Given the description of an element on the screen output the (x, y) to click on. 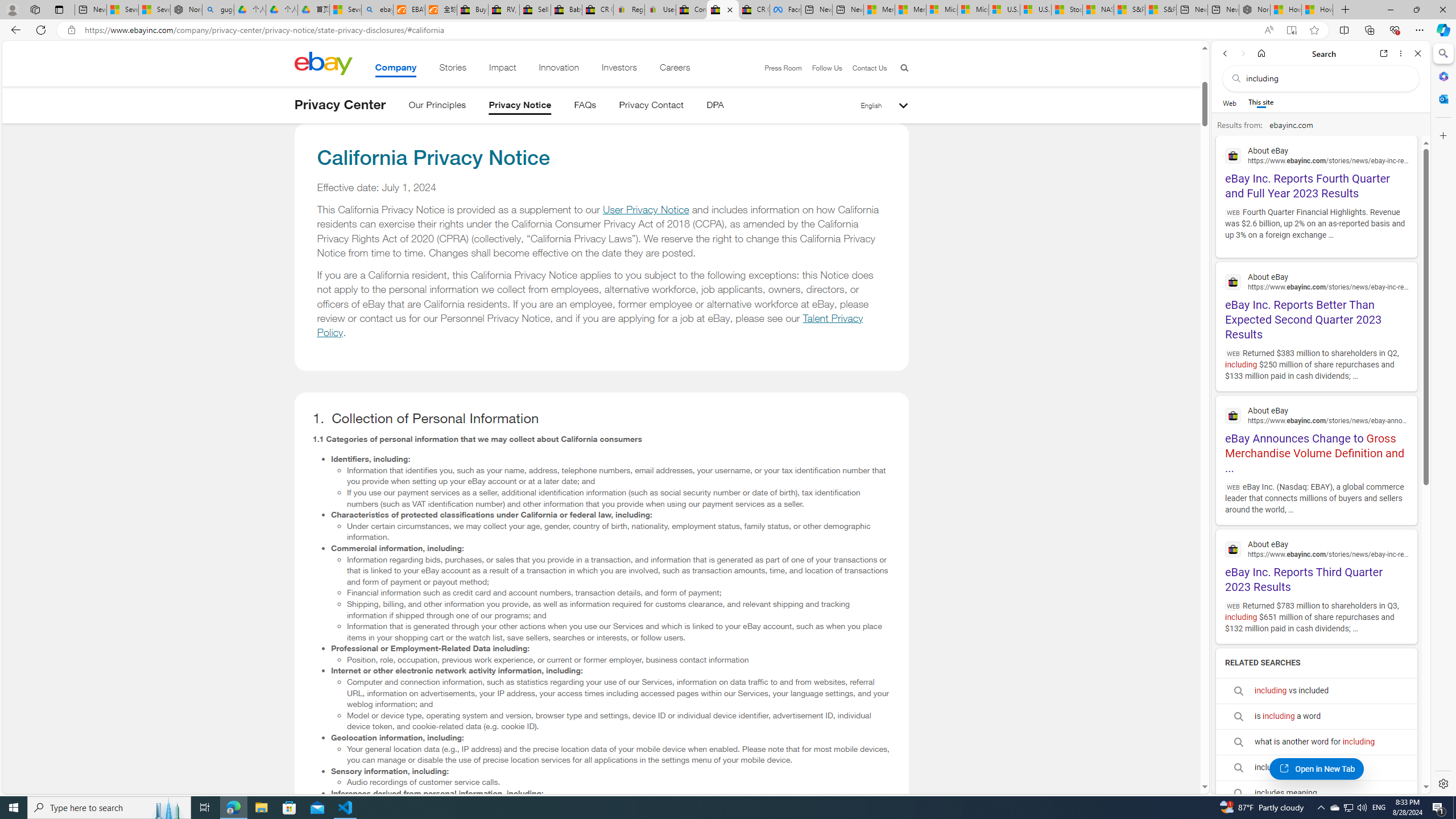
This site scope (1260, 102)
what is another word for including (1315, 742)
eBay Inc. Reports Fourth Quarter and Full Year 2023 Results (1315, 171)
Our Principles (436, 107)
Privacy Center (339, 104)
